Given the description of an element on the screen output the (x, y) to click on. 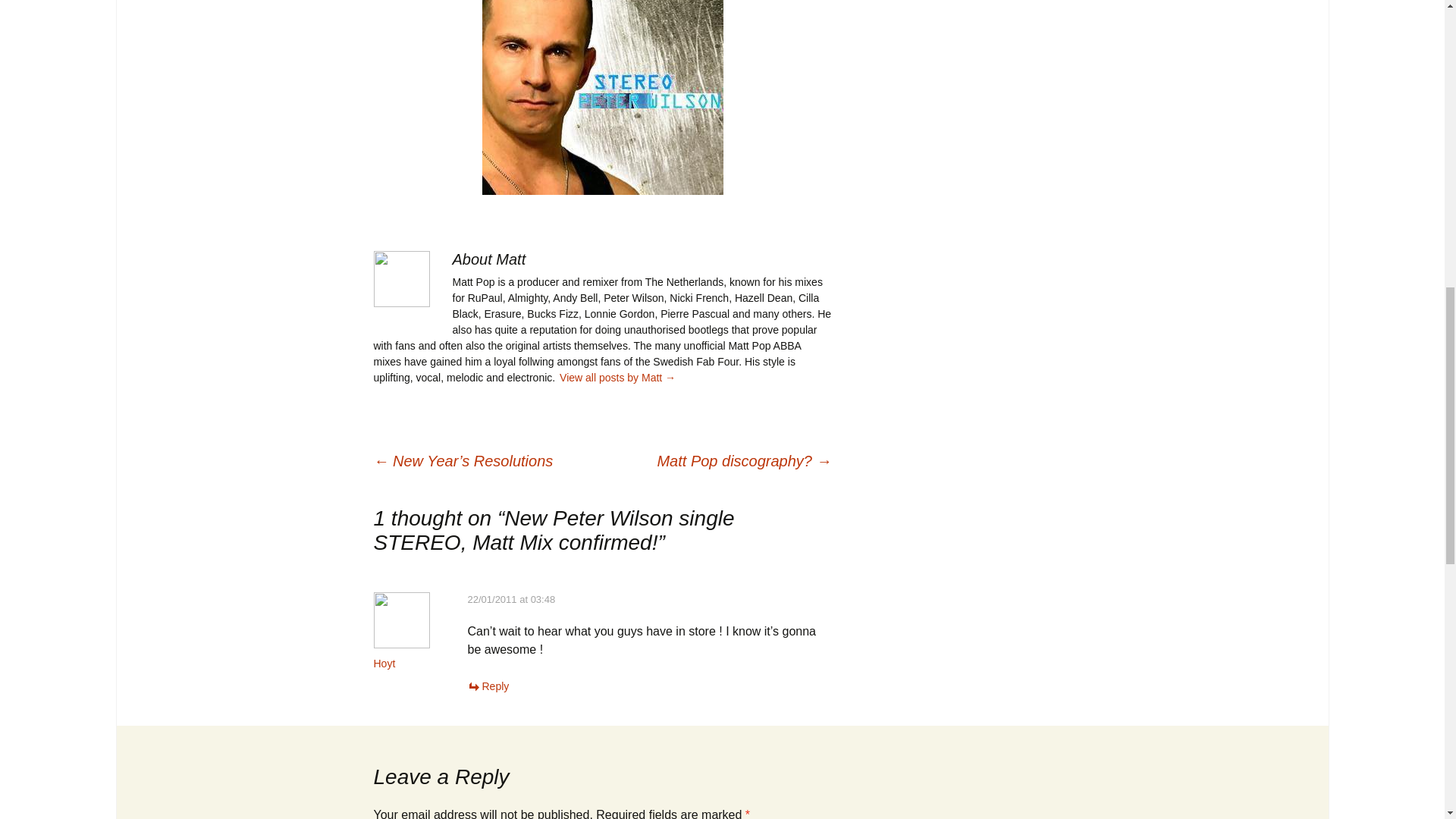
Reply (487, 686)
peter wilson (602, 97)
